Given the description of an element on the screen output the (x, y) to click on. 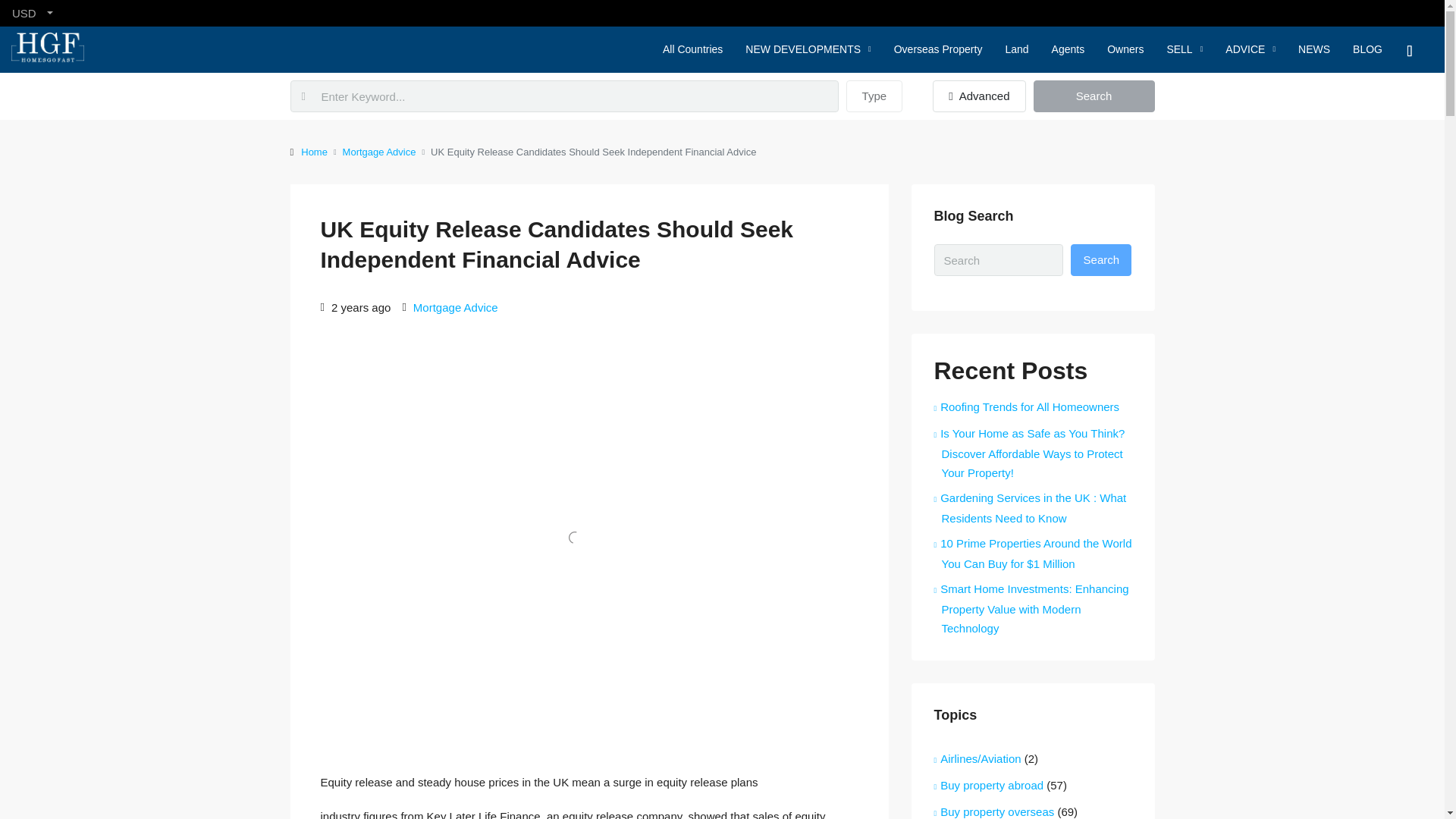
SELL (1184, 49)
Overseas Property (938, 49)
Agents (1068, 49)
All Countries (691, 49)
BLOG (1366, 49)
Owners (1125, 49)
USD (32, 13)
NEW DEVELOPMENTS (807, 49)
Land (1015, 49)
NEWS (1313, 49)
